Given the description of an element on the screen output the (x, y) to click on. 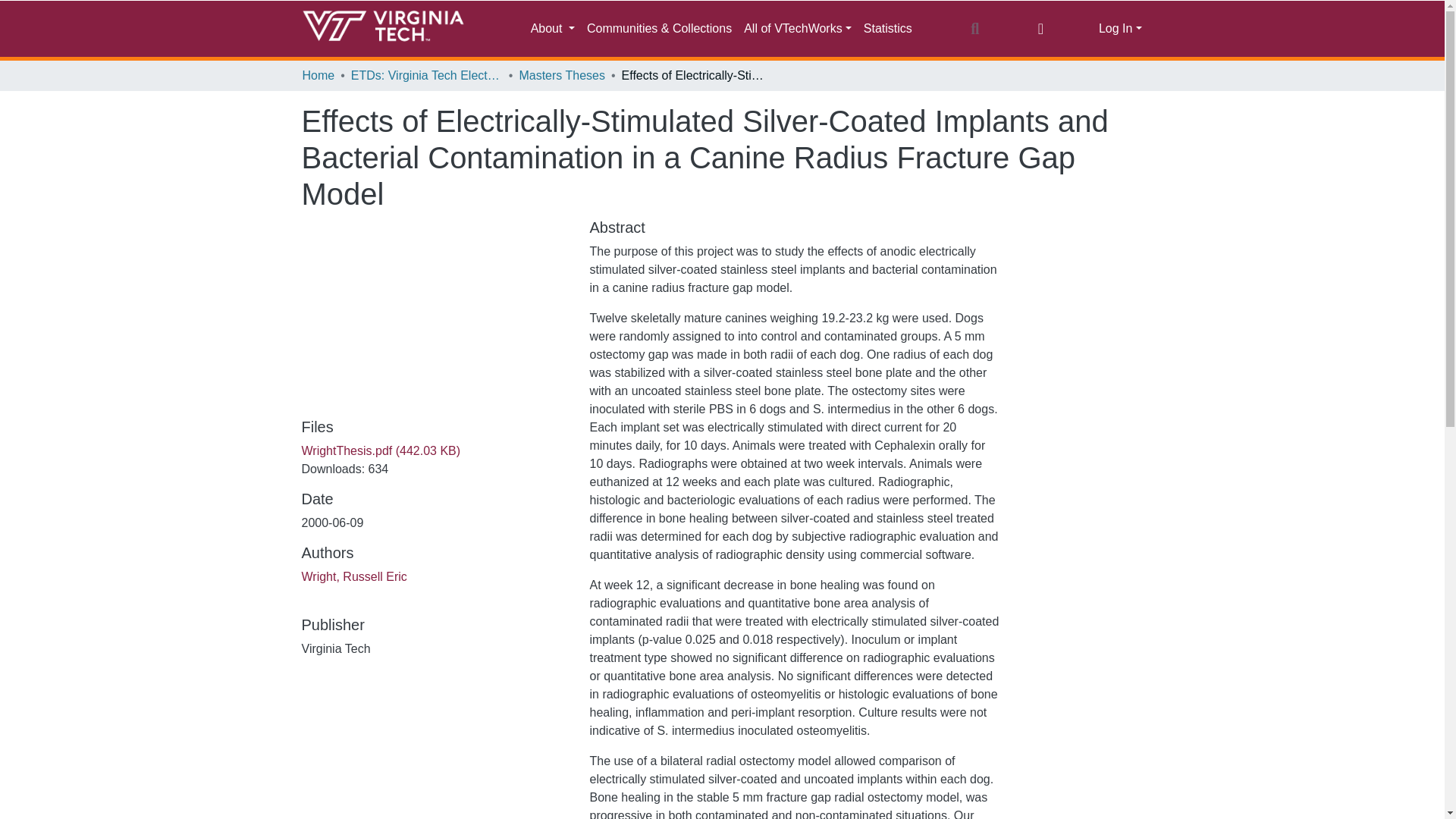
Home (317, 75)
Wright, Russell Eric (354, 576)
Log In (1119, 28)
Statistics (887, 28)
About (552, 28)
All of VTechWorks (797, 28)
Search (974, 28)
Masters Theses (561, 75)
ETDs: Virginia Tech Electronic Theses and Dissertations (426, 75)
Statistics (887, 28)
